Given the description of an element on the screen output the (x, y) to click on. 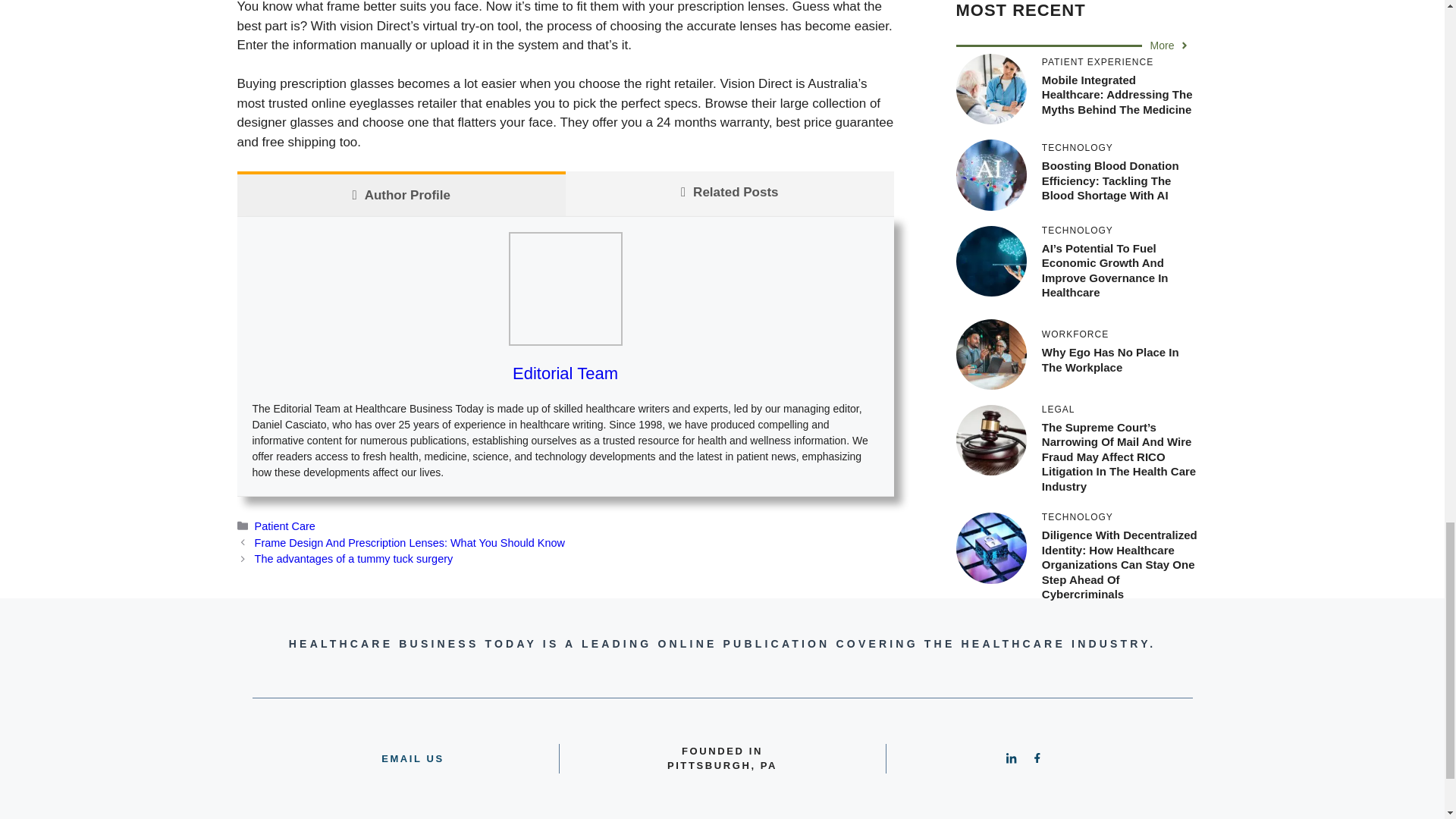
Editorial Team (564, 373)
How To Buy Glasses With Vision Direct 1 (564, 288)
The advantages of a tummy tuck surgery (353, 558)
Patient Care (284, 526)
Frame Design And Prescription Lenses: What You Should Know (409, 542)
